Given the description of an element on the screen output the (x, y) to click on. 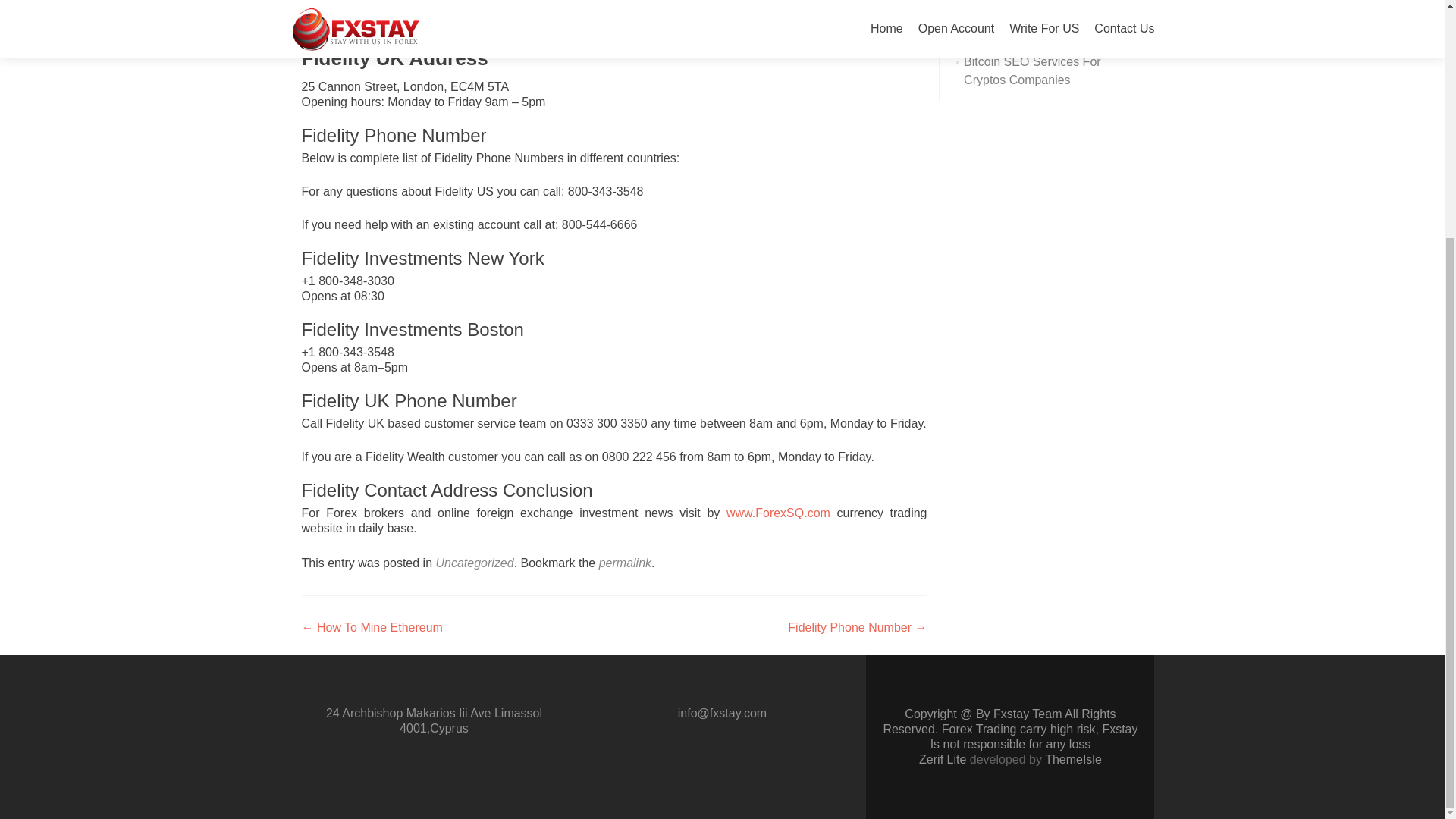
Zerif Lite (943, 758)
ThemeIsle (1073, 758)
Uncategorized (474, 562)
www.ForexSQ.com (781, 512)
Cryptocurrency SEO Services For Best Cryptos Companies (1044, 22)
Bitcoin SEO Services For Cryptos Companies (1031, 70)
permalink (624, 562)
